Given the description of an element on the screen output the (x, y) to click on. 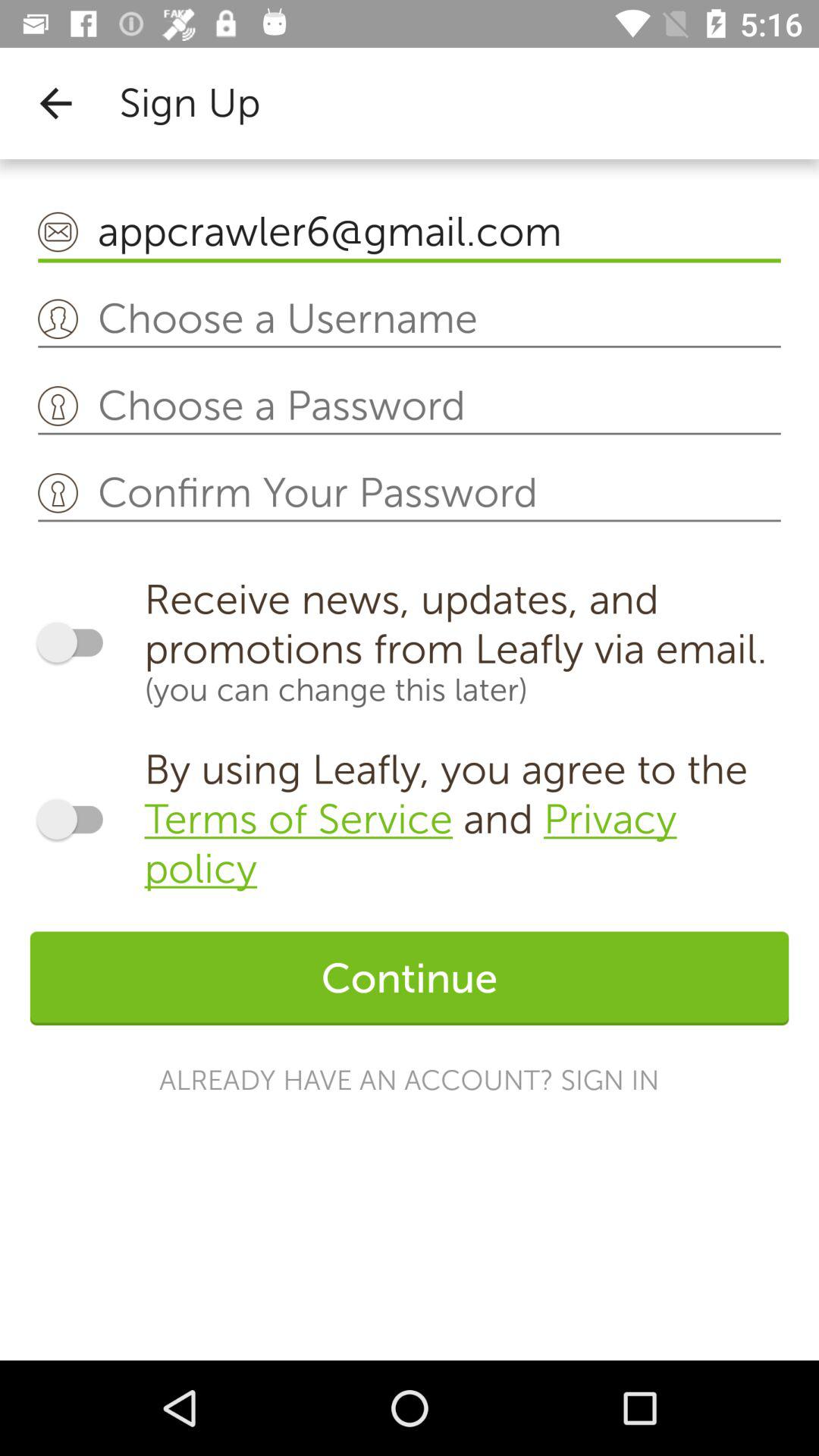
choose icon to the left of sign up icon (55, 103)
